Given the description of an element on the screen output the (x, y) to click on. 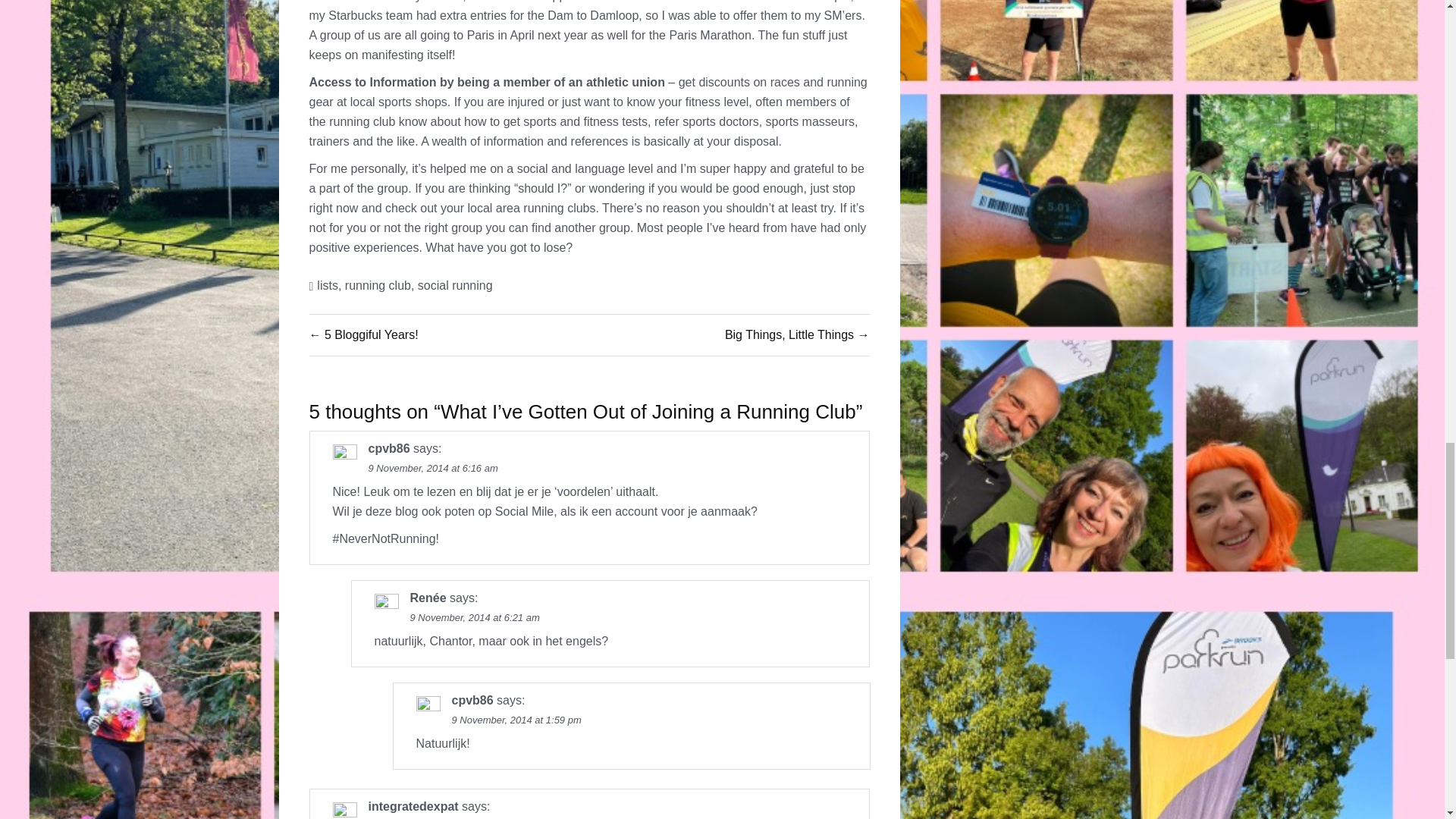
9 November, 2014 at 1:59 pm (515, 719)
9 November, 2014 at 6:16 am (432, 468)
running club (377, 285)
lists (327, 285)
9 November, 2014 at 6:21 am (473, 617)
integratedexpat (413, 806)
social running (455, 285)
